Given the description of an element on the screen output the (x, y) to click on. 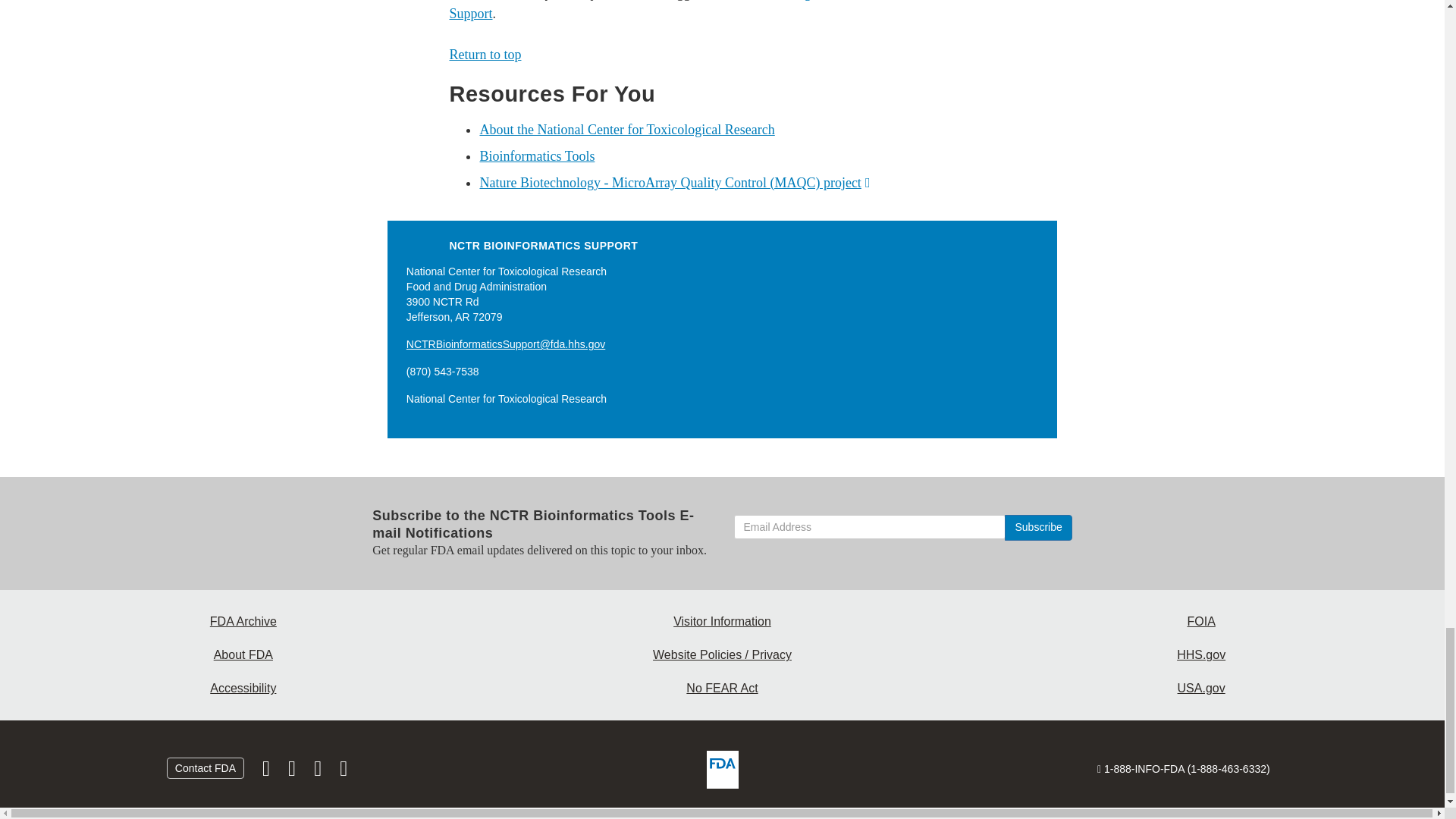
National Center for Toxicological Research (626, 129)
Health and Human Services (1200, 654)
Subscribe to FDA RSS feeds (343, 771)
Follow FDA on Facebook (267, 771)
Subscribe (1037, 527)
Bioinformatics Tools (536, 155)
View FDA videos on YouTube (318, 771)
Follow FDA on Twitter (293, 771)
Freedom of Information Act (1200, 621)
